Given the description of an element on the screen output the (x, y) to click on. 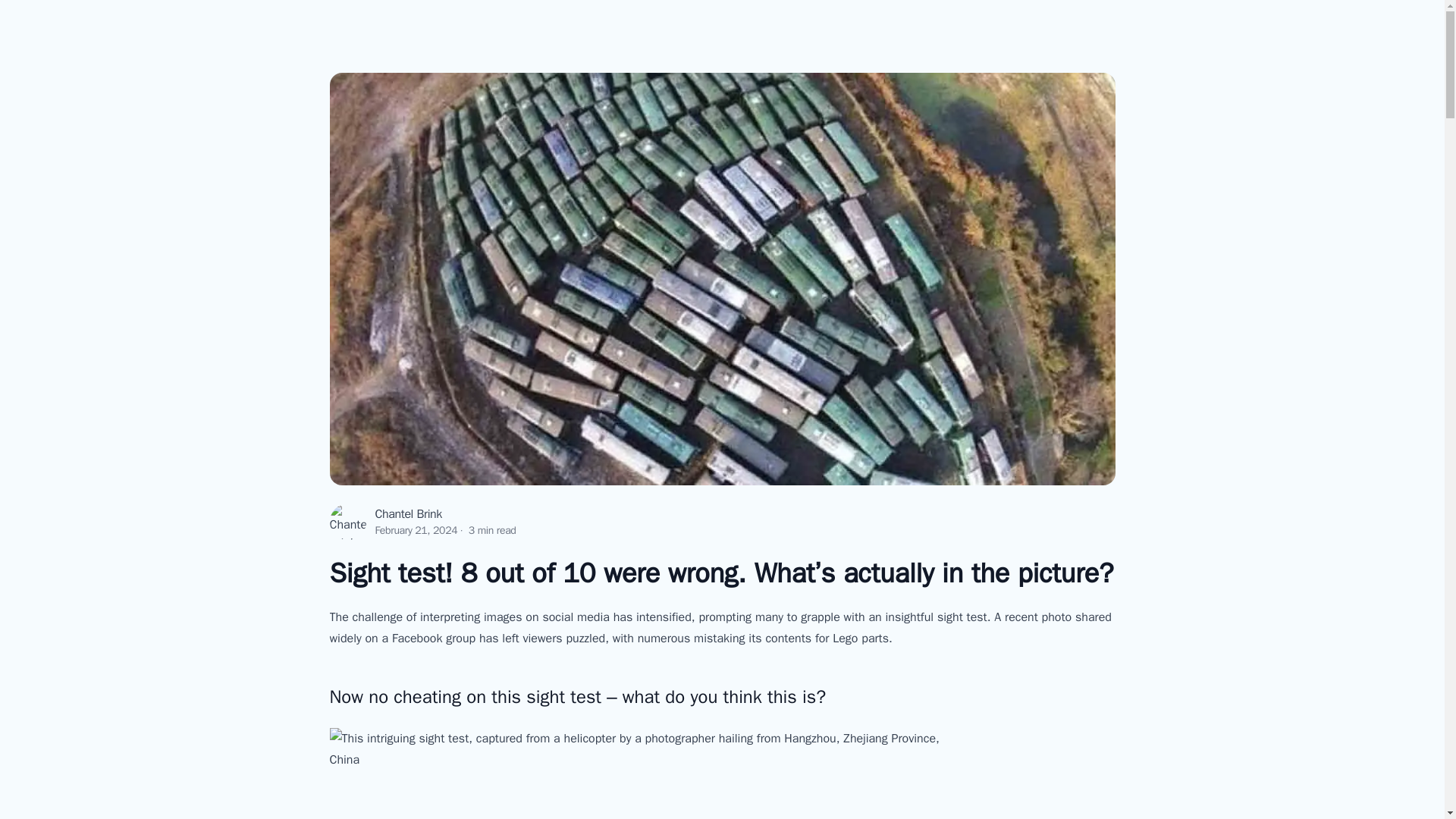
Chantel Brink (407, 513)
